Given the description of an element on the screen output the (x, y) to click on. 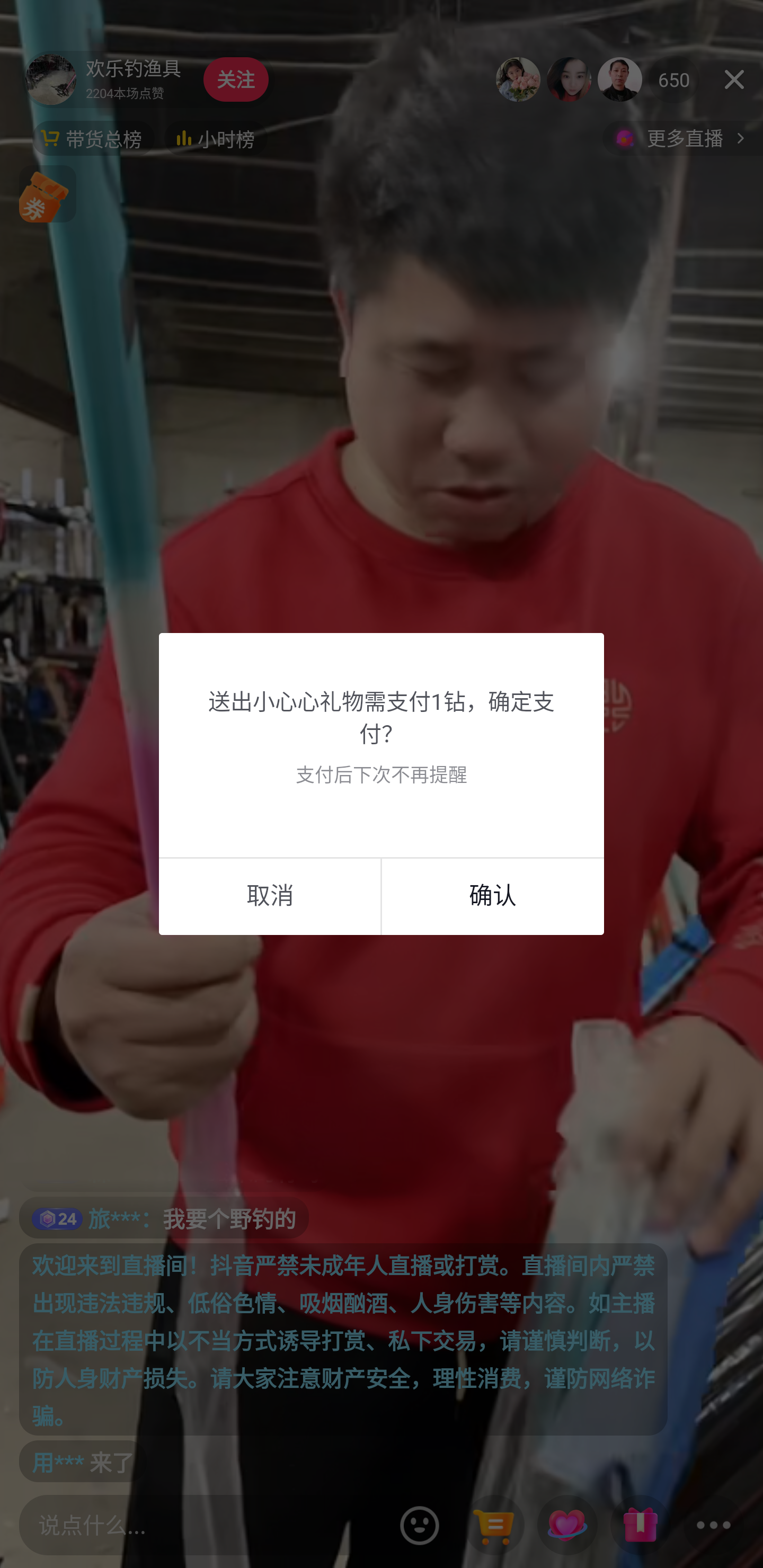
取消 (269, 894)
确认 (492, 894)
